Given the description of an element on the screen output the (x, y) to click on. 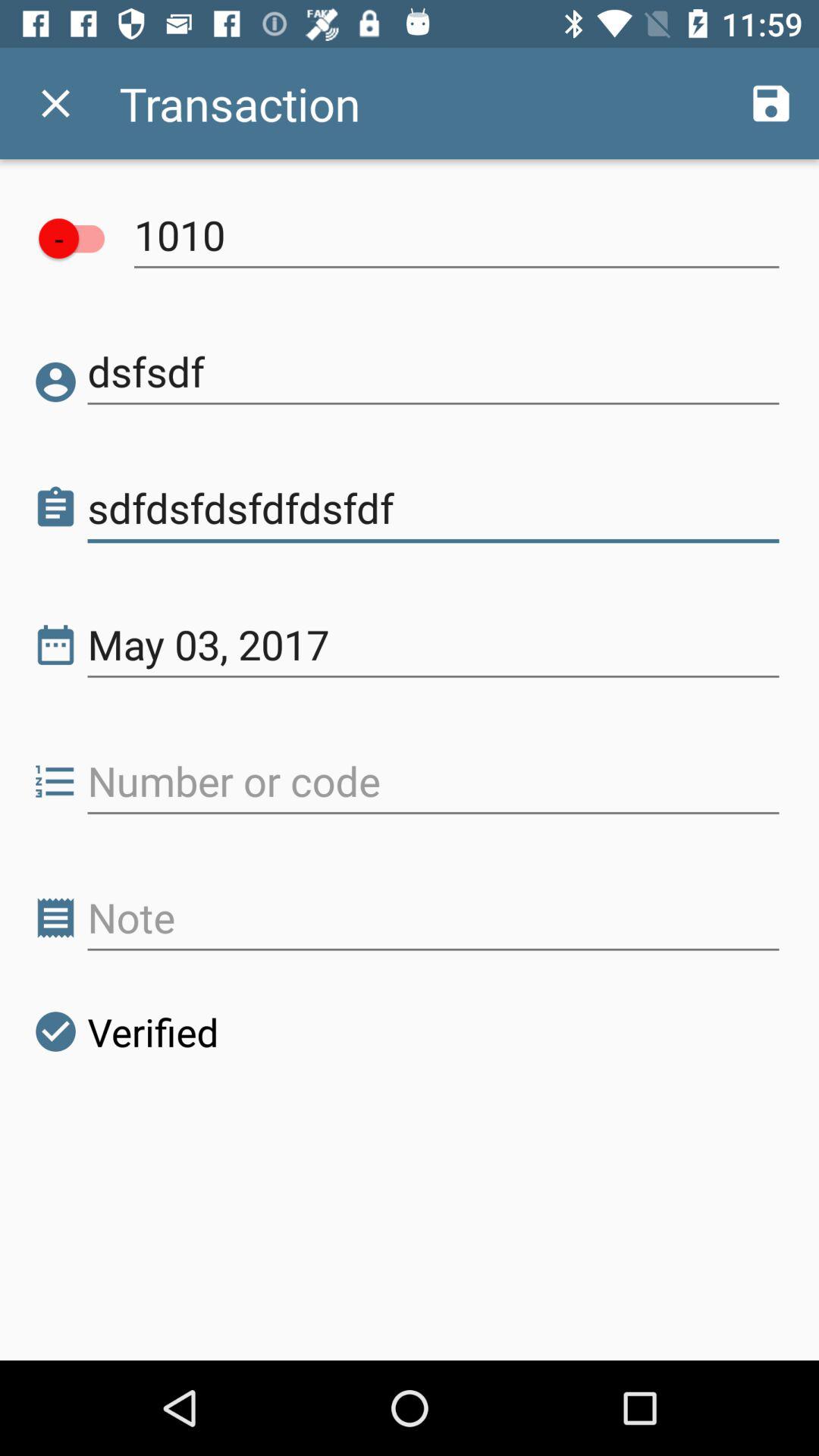
tap the item next to sdfdsfdsfdfdsfdf icon (55, 508)
